Given the description of an element on the screen output the (x, y) to click on. 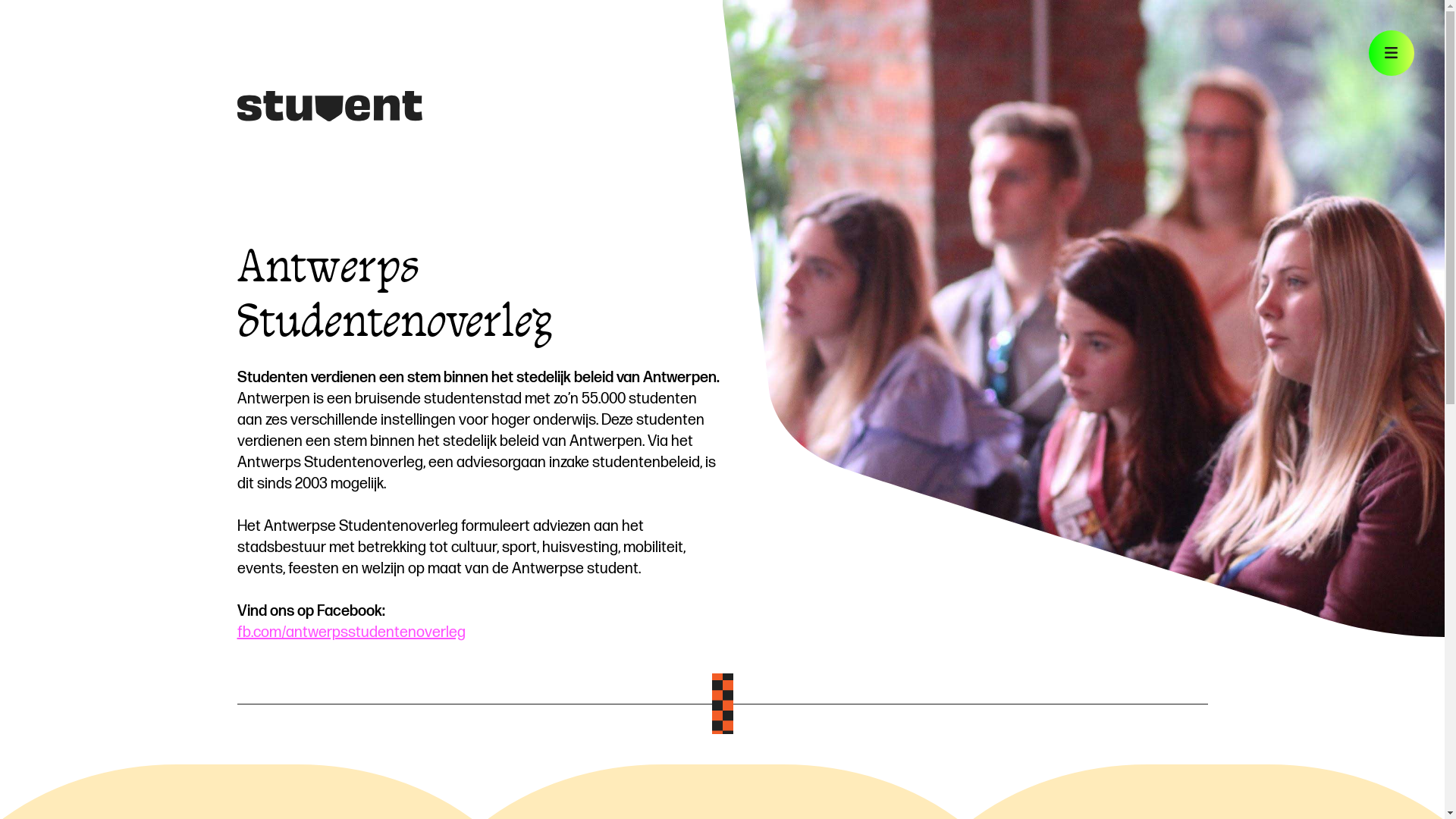
fb.com/antwerpsstudentenoverleg Element type: text (350, 632)
